Given the description of an element on the screen output the (x, y) to click on. 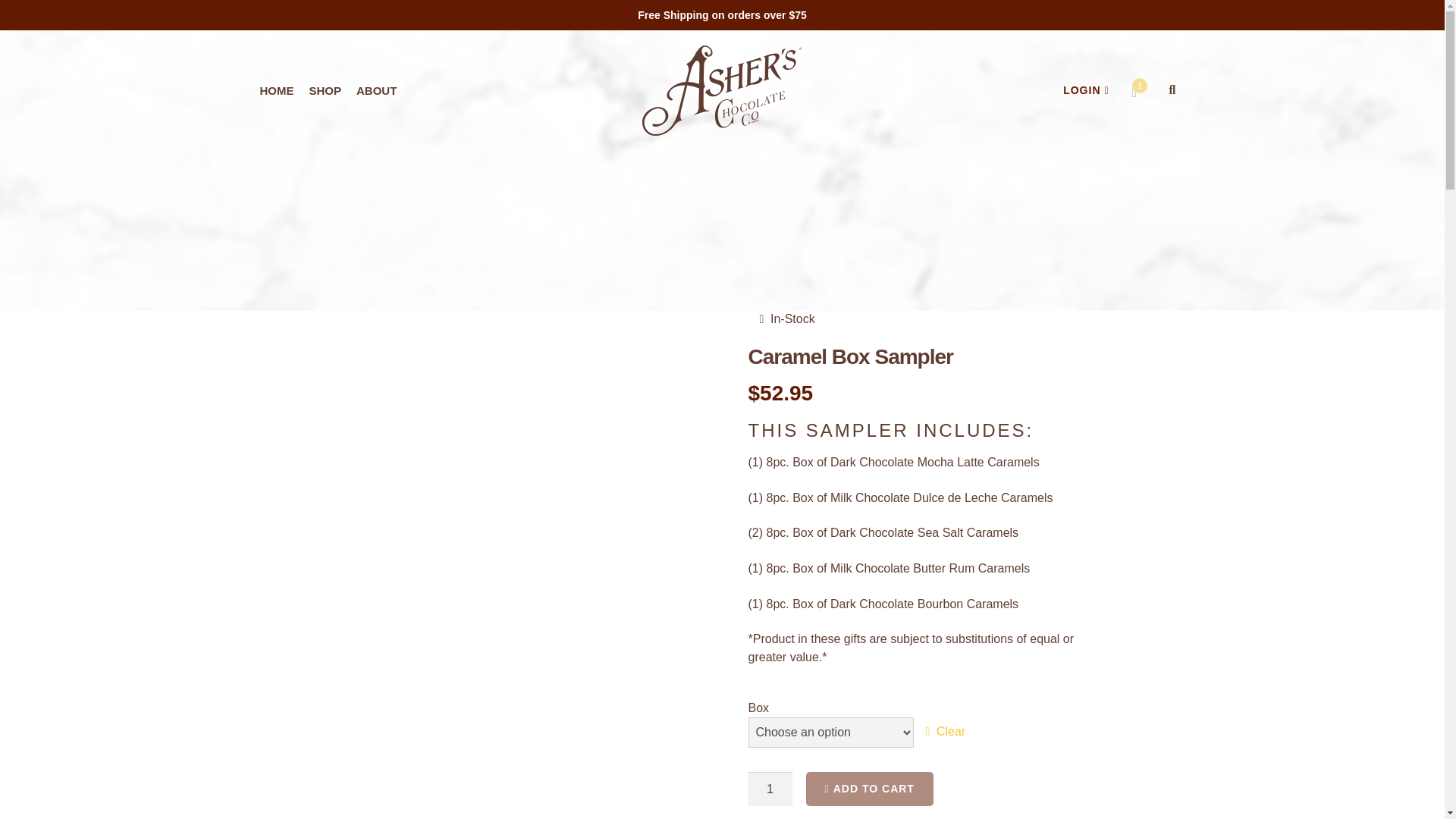
HOME (276, 90)
SHOP (325, 90)
1 (770, 788)
